Given the description of an element on the screen output the (x, y) to click on. 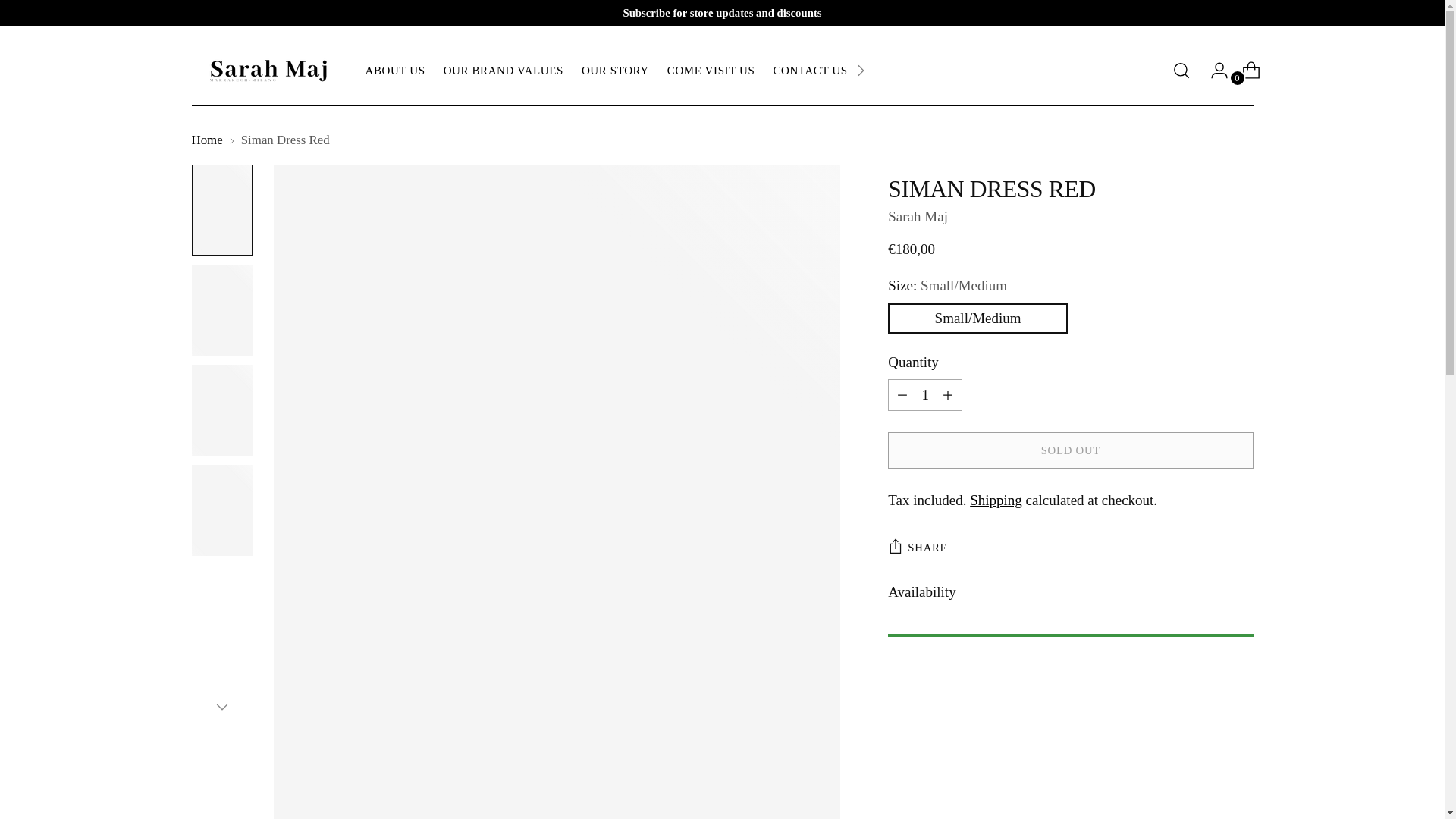
OUR BRAND VALUES (503, 70)
OUR STORY (614, 70)
Down (220, 706)
1 (925, 395)
0 (1245, 70)
CONTACT US (810, 70)
ABOUT US (395, 70)
Subscribe for store updates and discounts (722, 12)
COME VISIT US (617, 70)
